Given the description of an element on the screen output the (x, y) to click on. 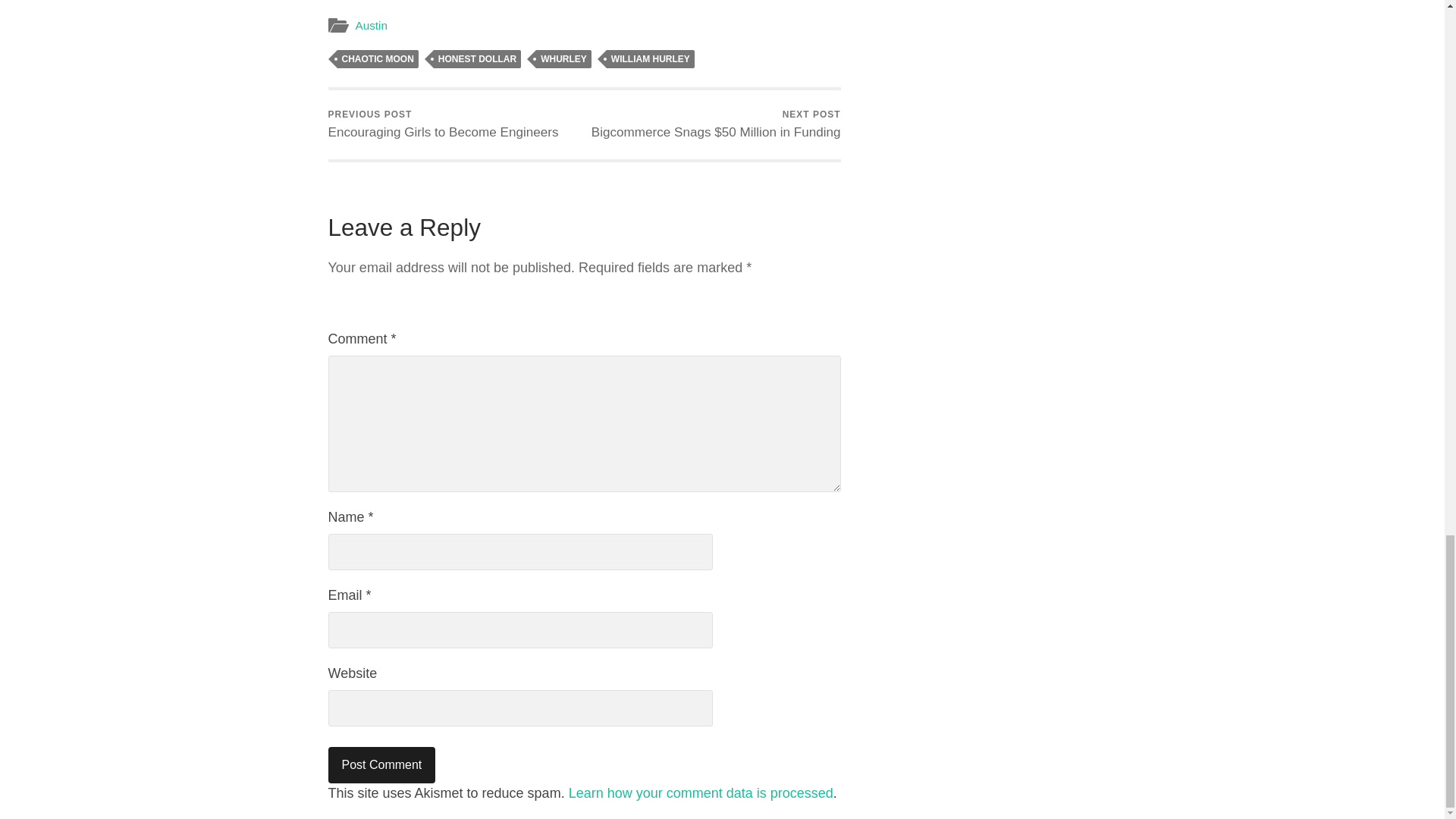
CHAOTIC MOON (376, 58)
HONEST DOLLAR (477, 58)
Austin (371, 24)
Post Comment (381, 764)
